Given the description of an element on the screen output the (x, y) to click on. 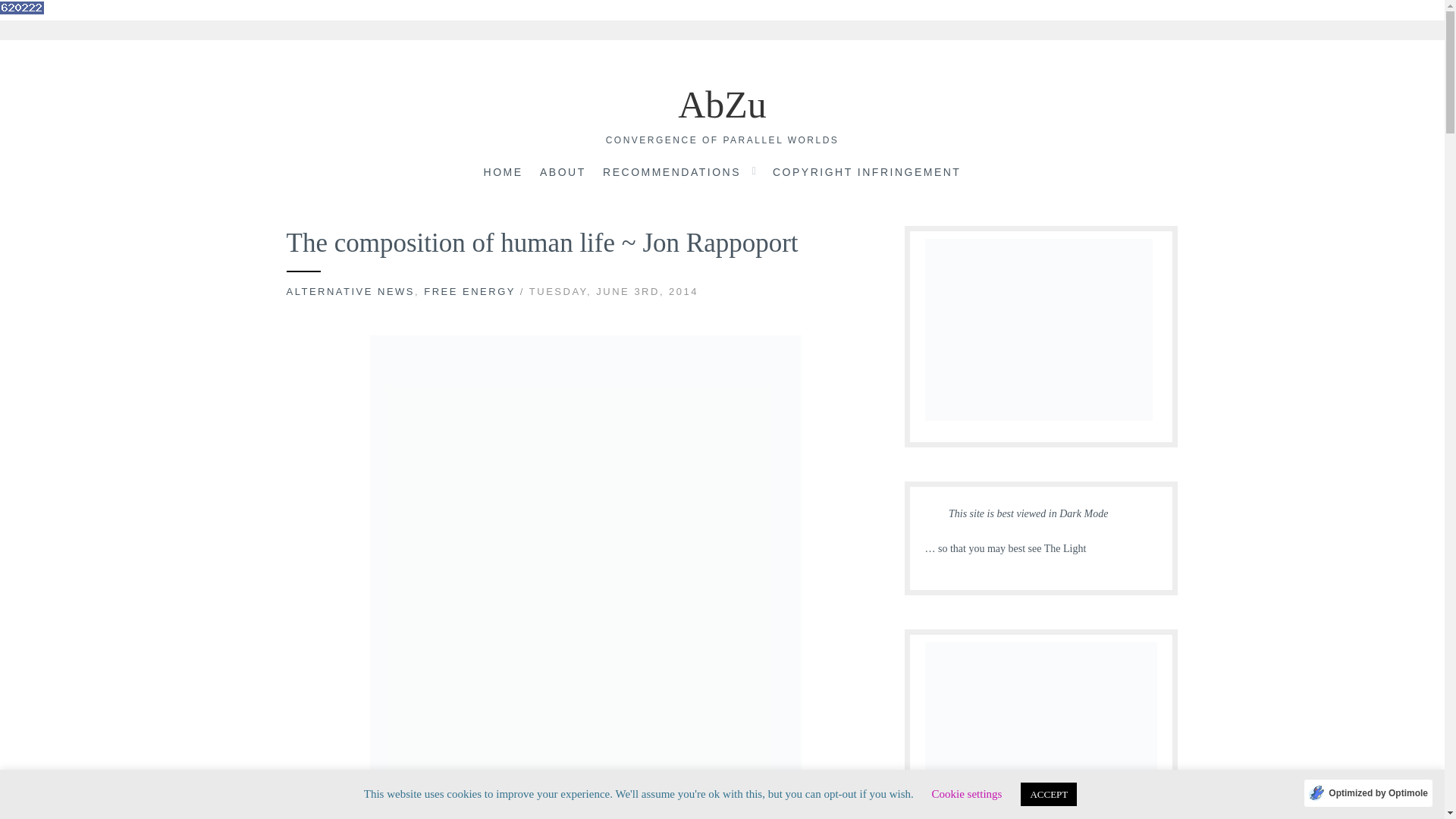
ABOUT (563, 173)
FREE ENERGY (469, 291)
COPYRIGHT INFRINGEMENT (866, 173)
RECOMMENDATIONS (671, 173)
ALTERNATIVE NEWS (350, 291)
AbZu (722, 104)
HOME (502, 173)
